Given the description of an element on the screen output the (x, y) to click on. 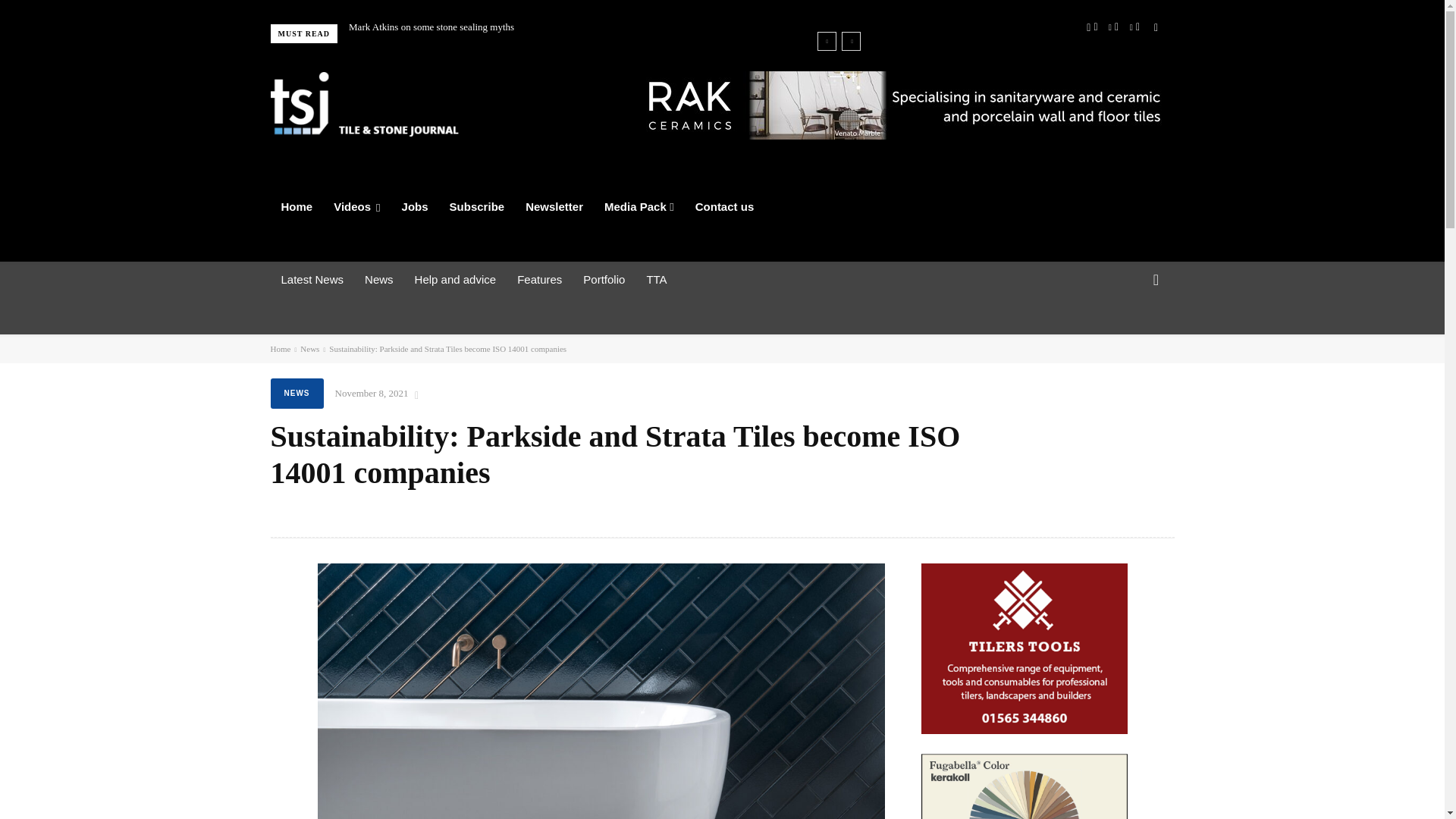
Youtube (1155, 26)
Home (296, 207)
Facebook (1091, 26)
Mark Atkins on some stone sealing myths (431, 26)
Linkedin (1113, 26)
Tile and Stone Journal (363, 104)
Twitter (1134, 26)
Mark Atkins on some stone sealing myths (431, 26)
